Given the description of an element on the screen output the (x, y) to click on. 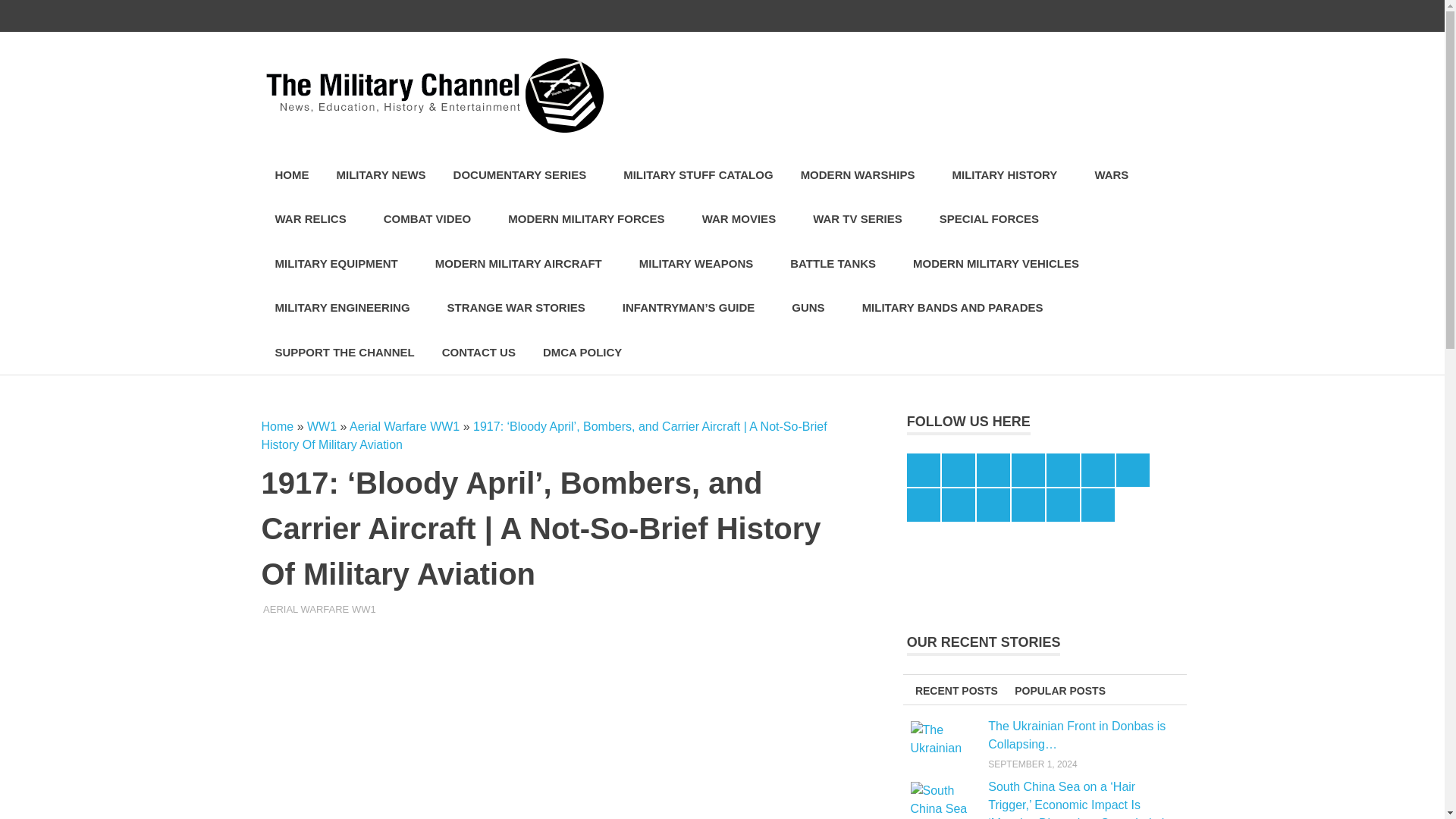
WW1 (321, 426)
DOCUMENTARY SERIES (524, 175)
9:24 pm (311, 609)
DailyMotion (975, 15)
odysee (1103, 15)
HOME (290, 175)
View all posts by Unipro2013main (305, 609)
Reddit (1007, 15)
Flipboard (1039, 15)
Gettr (1135, 15)
